Given the description of an element on the screen output the (x, y) to click on. 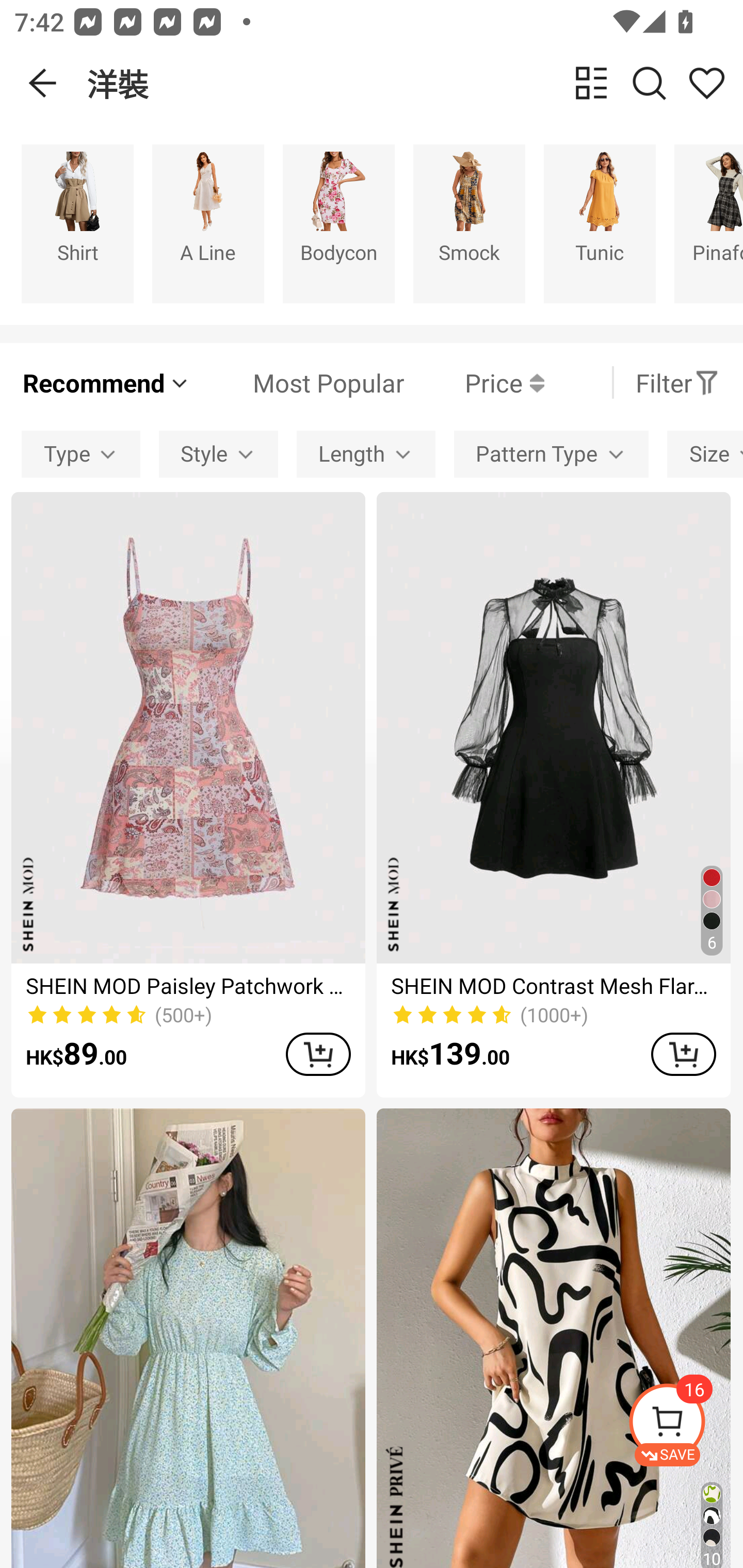
洋裝 change view Search Share (414, 82)
change view (591, 82)
Search (648, 82)
Share (706, 82)
Shirt (77, 223)
A Line (208, 223)
Bodycon (338, 223)
Smock (469, 223)
Tunic (599, 223)
Pinafore (708, 223)
Recommend (106, 382)
Most Popular (297, 382)
Price (474, 382)
Filter (677, 382)
Type (80, 454)
Style (218, 454)
Length (365, 454)
Pattern Type (550, 454)
Size (705, 454)
ADD TO CART (318, 1054)
ADD TO CART (683, 1054)
Ditsy Floral Ruffle Hem Dress Cottagecore Dress (188, 1338)
SAVE (685, 1424)
